Given the description of an element on the screen output the (x, y) to click on. 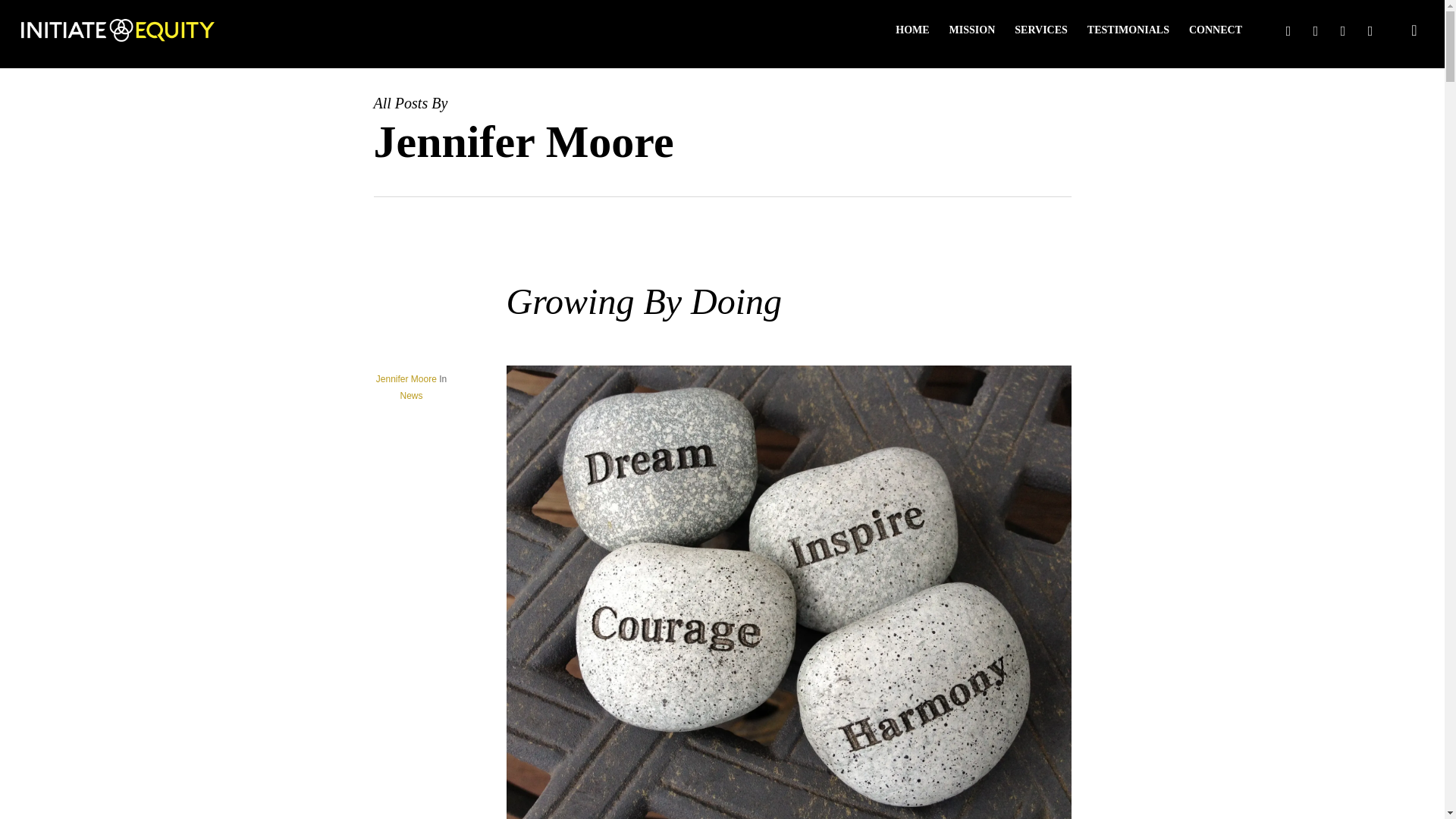
YOUTUBE (1370, 30)
FACEBOOK (1315, 30)
CONNECT (1215, 29)
Growing By Doing (644, 301)
Jennifer Moore (405, 378)
LINKEDIN (1342, 30)
News (410, 395)
Posts by Jennifer Moore (405, 378)
TESTIMONIALS (1128, 29)
SERVICES (1040, 29)
TWITTER (1288, 30)
search (1414, 30)
HOME (912, 29)
MISSION (972, 29)
